Given the description of an element on the screen output the (x, y) to click on. 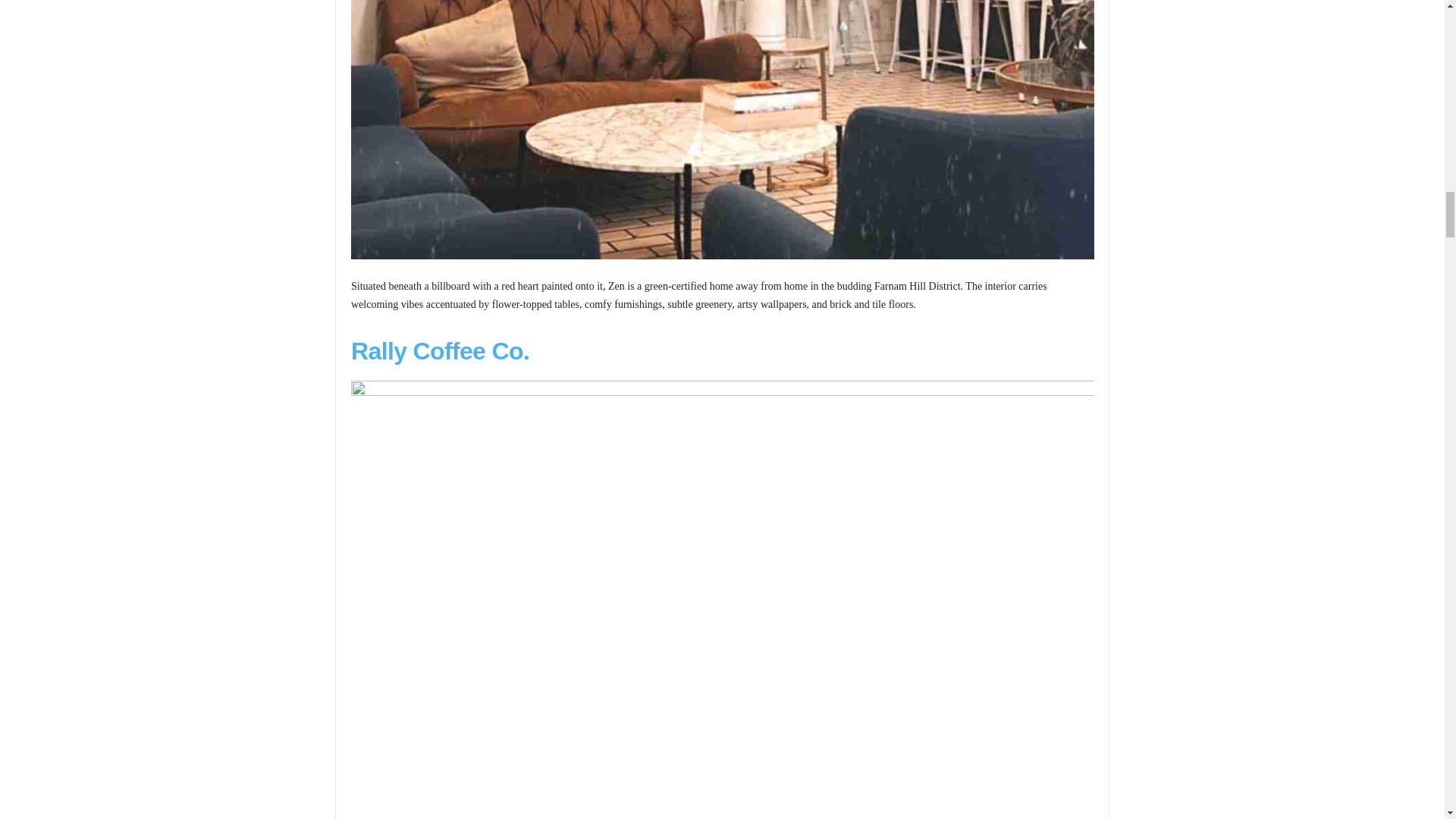
Rally Coffee Co. (439, 350)
